Given the description of an element on the screen output the (x, y) to click on. 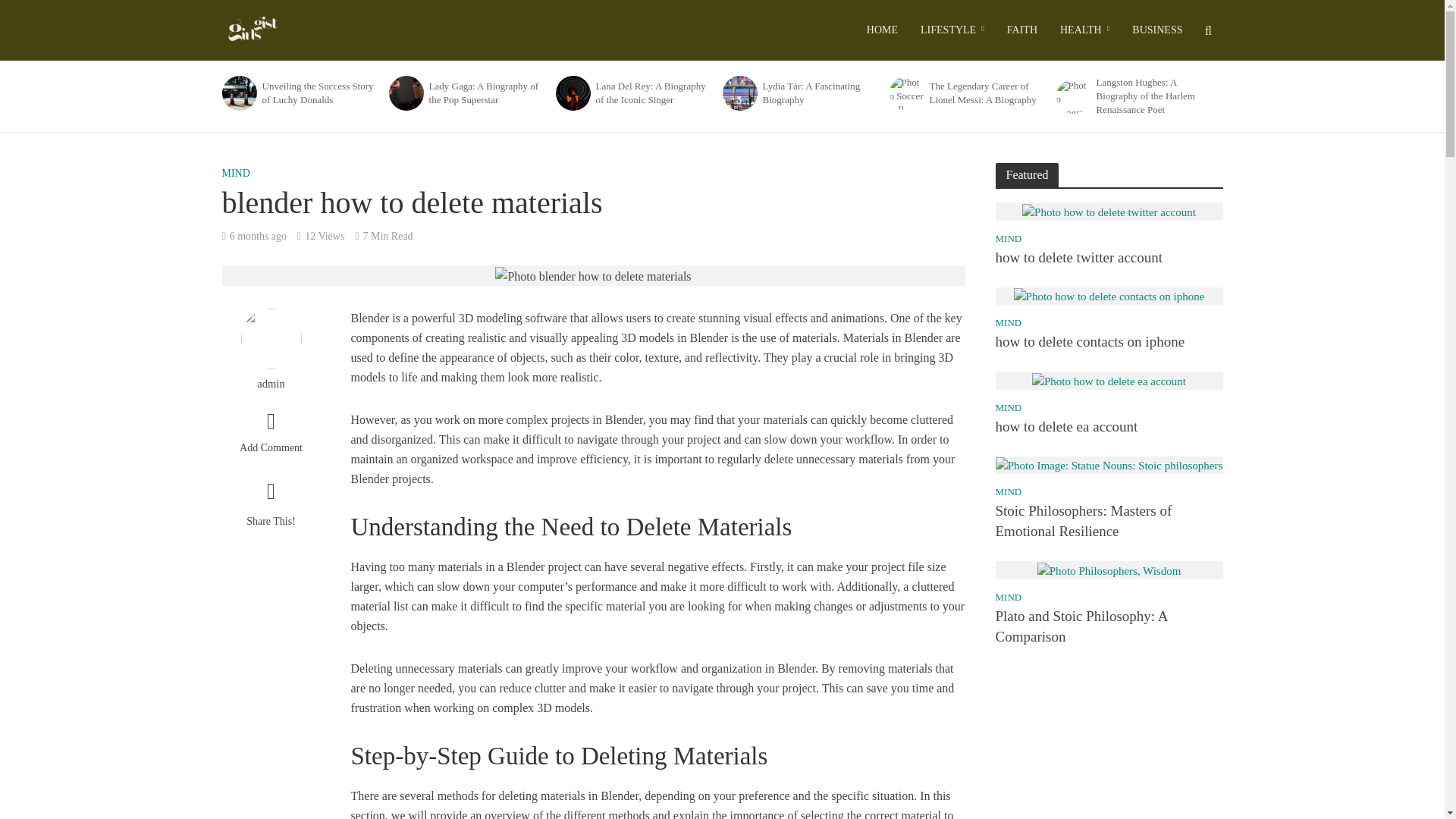
The Legendary Career of Lionel Messi: A Biography (988, 93)
Unveiling the Success Story of Luchy Donalds (320, 93)
BUSINESS (1157, 30)
The Legendary Career of Lionel Messi: A Biography (904, 93)
Lana Del Rey: A Biography of the Iconic Singer (571, 93)
Unveiling the Success Story of Luchy Donalds (238, 93)
Lana Del Rey: A Biography of the Iconic Singer (654, 93)
Langston Hughes: A Biography of the Harlem Renaissance Poet (1071, 95)
Unveiling the Success Story of Luchy Donalds (237, 93)
Langston Hughes: A Biography of the Harlem Renaissance Poet (1154, 96)
